Given the description of an element on the screen output the (x, y) to click on. 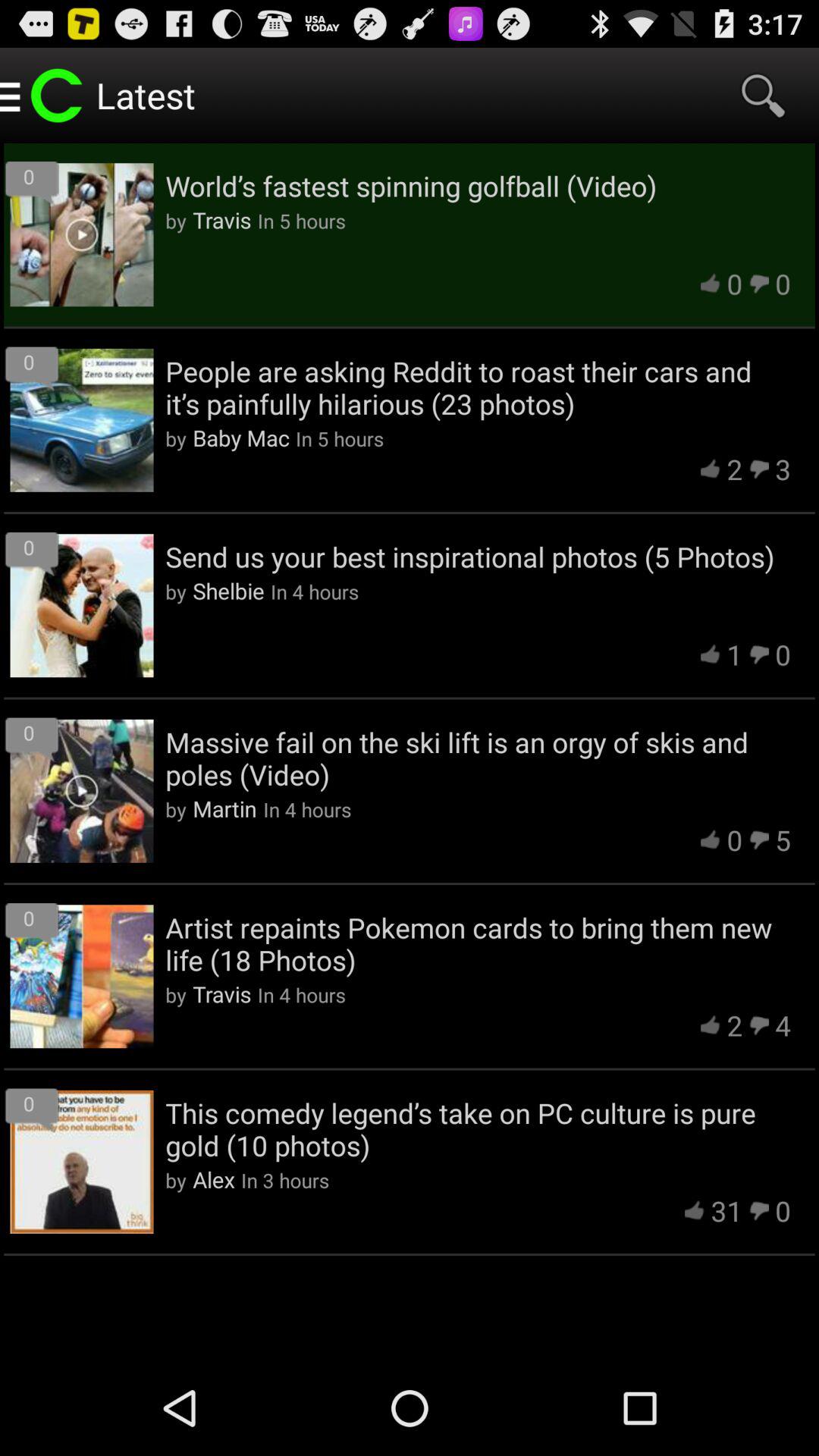
flip until this comedy legend (478, 1129)
